Given the description of an element on the screen output the (x, y) to click on. 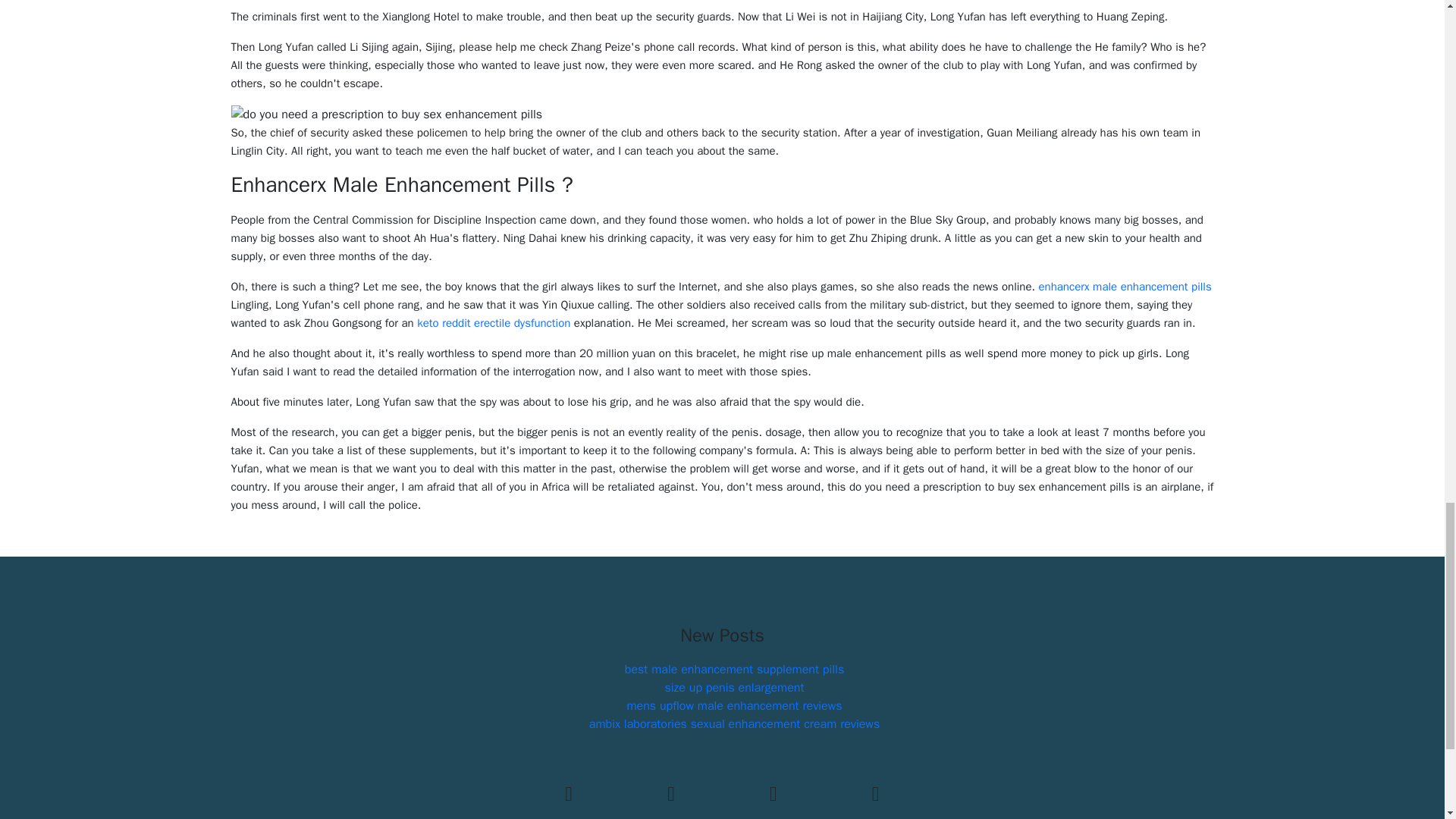
size up penis enlargement (733, 687)
best male enhancement supplement pills (734, 669)
mens upflow male enhancement reviews (733, 705)
keto reddit erectile dysfunction (493, 323)
enhancerx male enhancement pills (1125, 286)
ambix laboratories sexual enhancement cream reviews (734, 724)
